Given the description of an element on the screen output the (x, y) to click on. 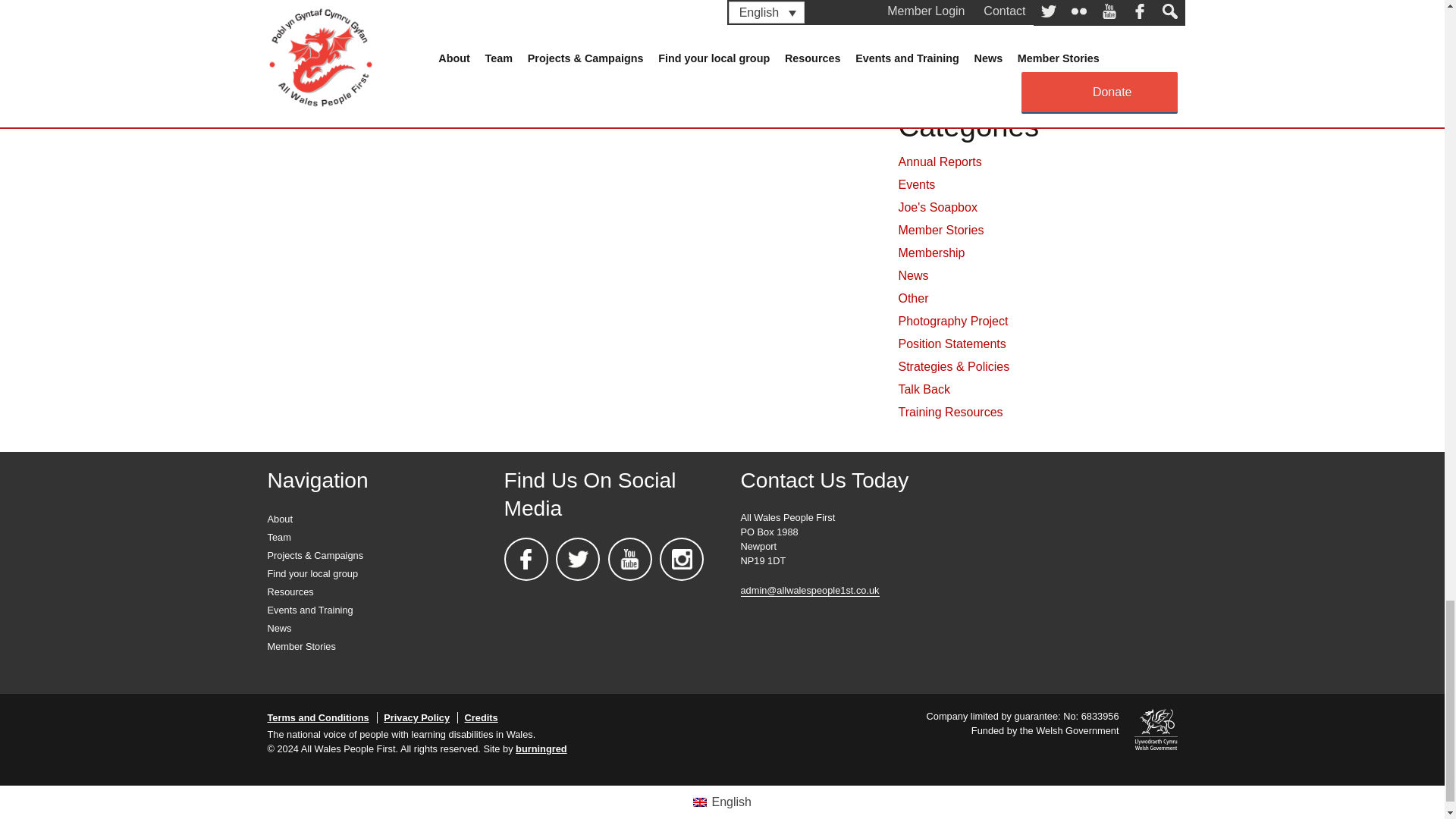
cardiff design agency burning red (541, 748)
